Given the description of an element on the screen output the (x, y) to click on. 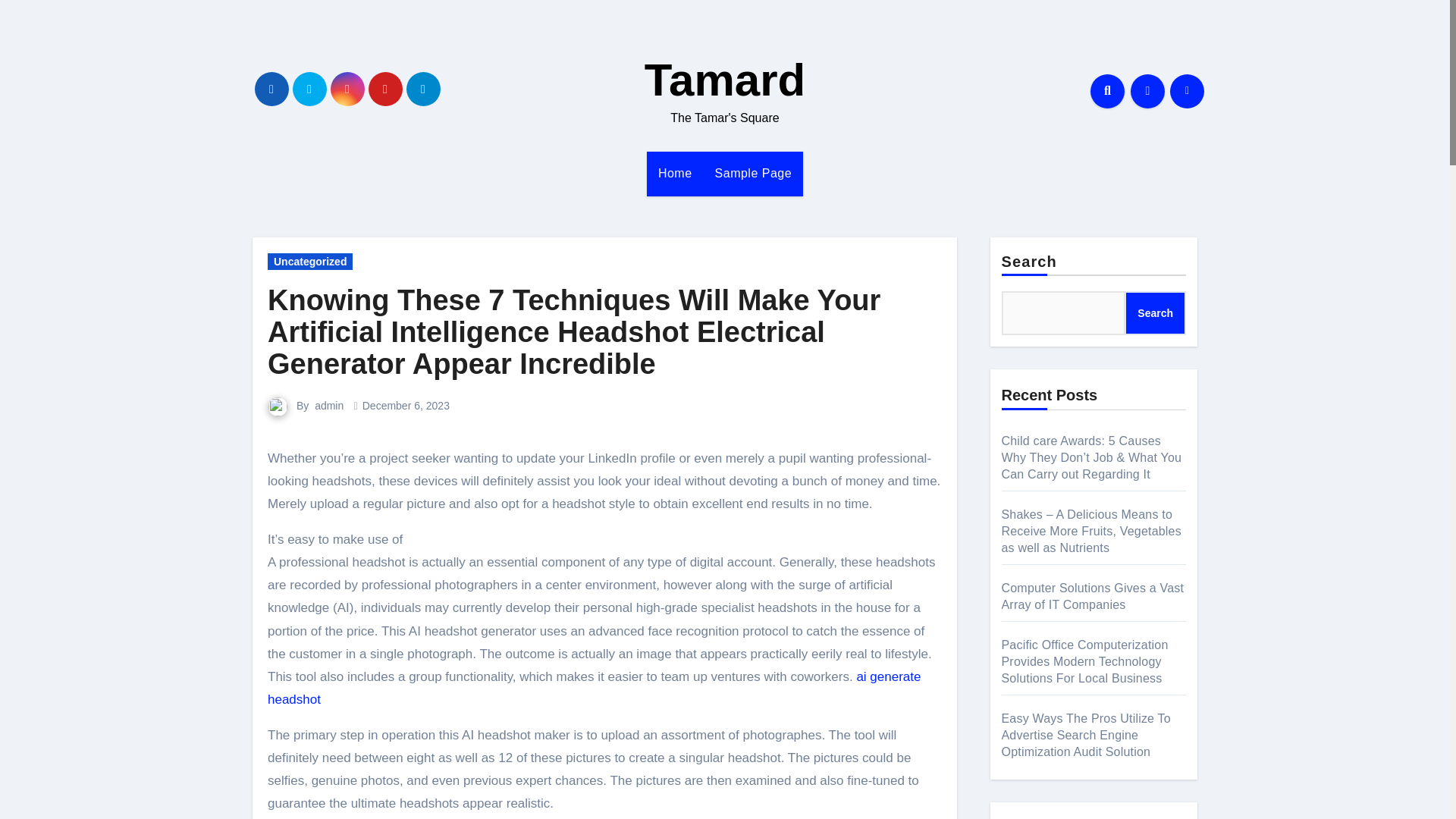
Sample Page (753, 173)
admin (328, 405)
December 6, 2023 (405, 405)
Uncategorized (309, 261)
Home (674, 173)
ai generate headshot (593, 687)
Home (674, 173)
Tamard (725, 79)
